Given the description of an element on the screen output the (x, y) to click on. 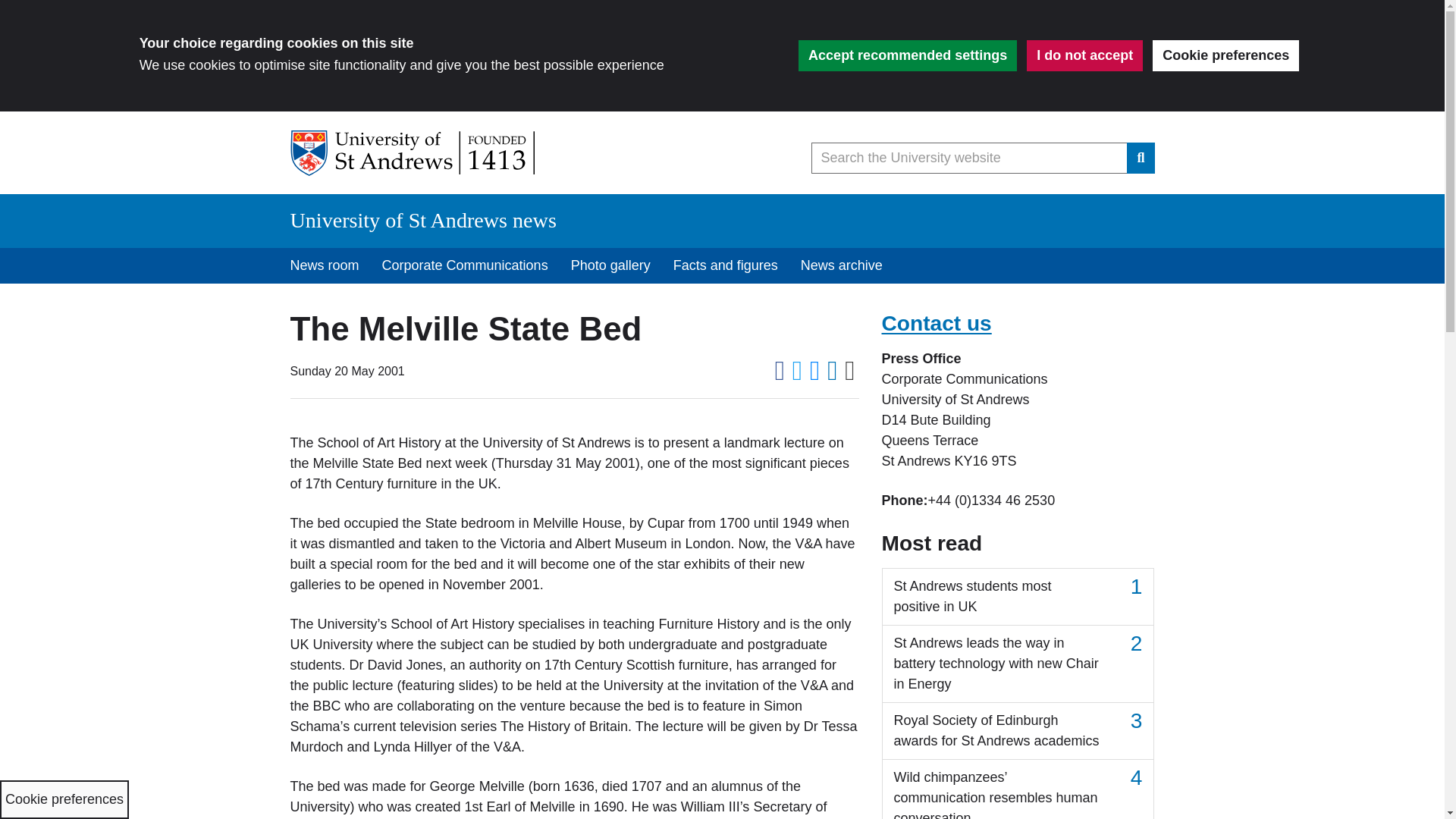
Royal Society of Edinburgh awards for St Andrews academics (1017, 730)
Photo gallery (610, 265)
I do not accept (1084, 55)
News room (325, 265)
Contact us (935, 323)
Accept recommended settings (906, 55)
Facts and figures (725, 265)
News archive (841, 265)
Cookie preferences (1225, 55)
Corporate Communications (465, 265)
St Andrews students most positive in UK (1017, 596)
University of St Andrews news (422, 219)
